Given the description of an element on the screen output the (x, y) to click on. 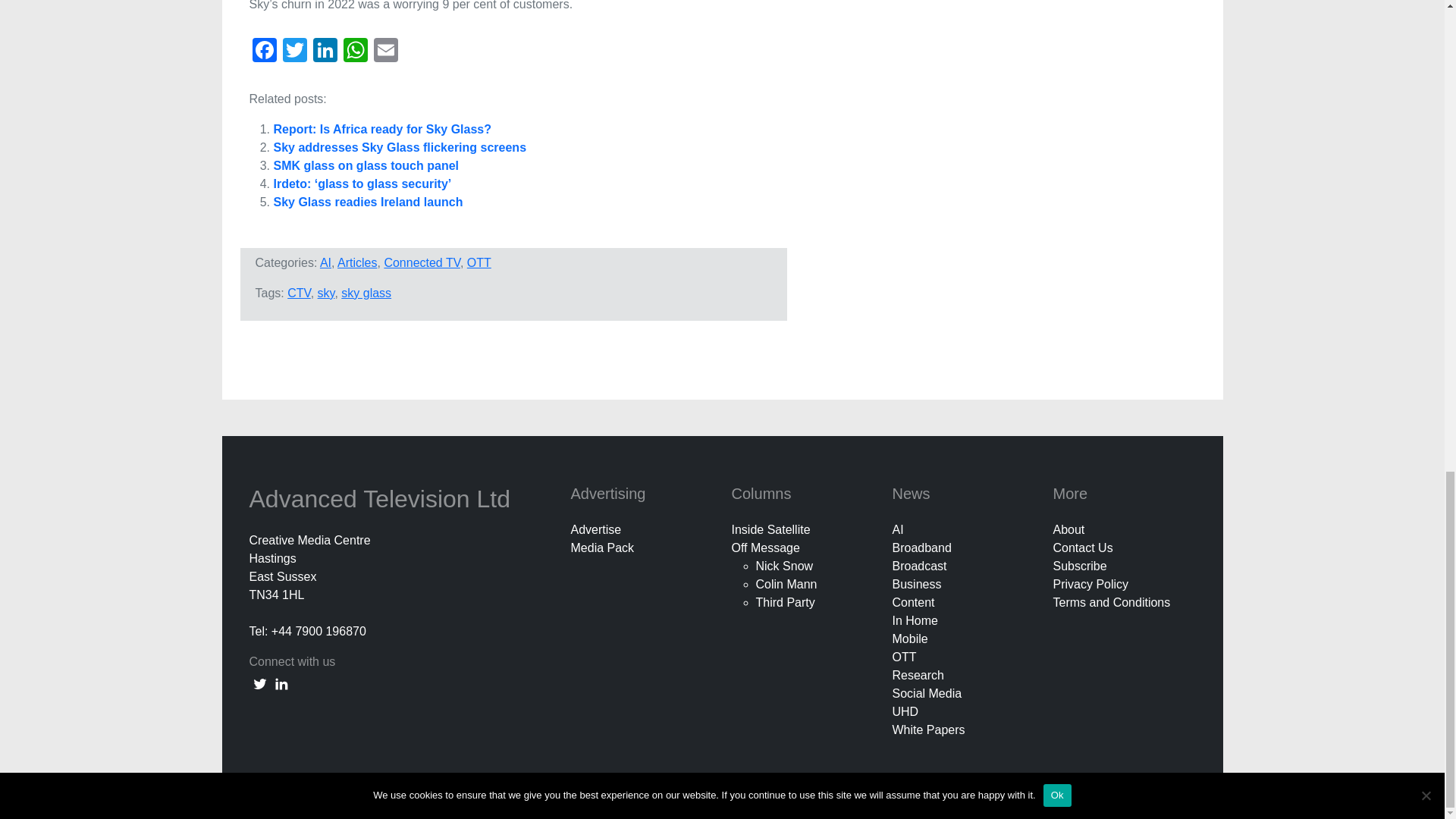
Facebook (263, 51)
WhatsApp (354, 51)
Advanced Television Ltd  (382, 498)
Report: Is Africa ready for Sky Glass? (382, 128)
sky glass (365, 292)
Connected TV (422, 262)
Sky Glass readies Ireland launch (368, 201)
SMK glass on glass touch panel (365, 164)
Email (384, 51)
Report: Is Africa ready for Sky Glass? (382, 128)
Twitter (293, 51)
sky (325, 292)
OTT (479, 262)
Sky addresses Sky Glass flickering screens (399, 146)
Articles (357, 262)
